Given the description of an element on the screen output the (x, y) to click on. 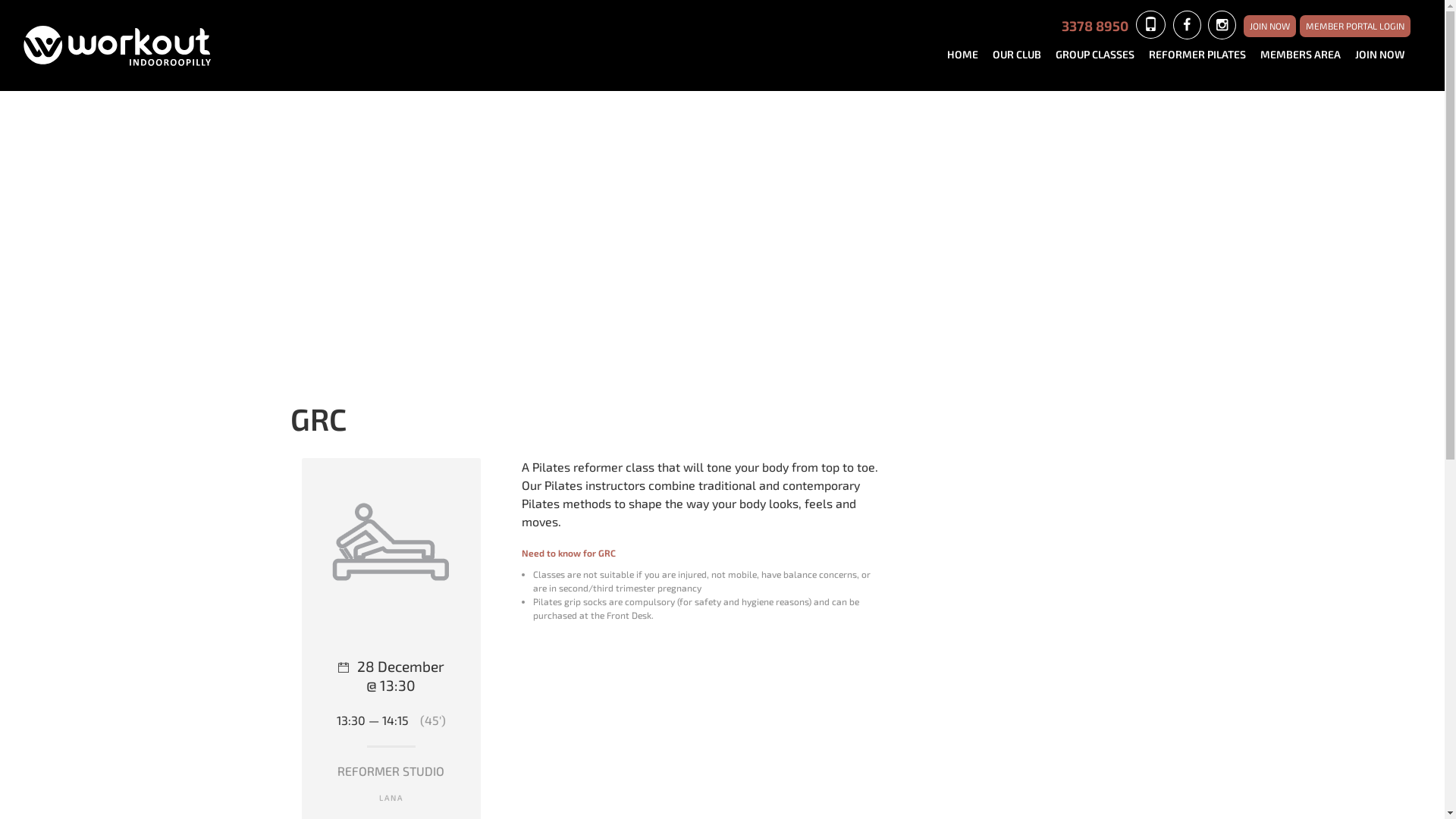
MEMBER PORTAL LOGIN Element type: text (1354, 26)
JOIN NOW Element type: text (1385, 54)
HOME Element type: text (968, 54)
REFORMER PILATES Element type: text (1202, 54)
MEMBERS AREA Element type: text (1306, 54)
GROUP CLASSES Element type: text (1100, 54)
OUR CLUB Element type: text (1022, 54)
JOIN NOW Element type: text (1269, 26)
